Given the description of an element on the screen output the (x, y) to click on. 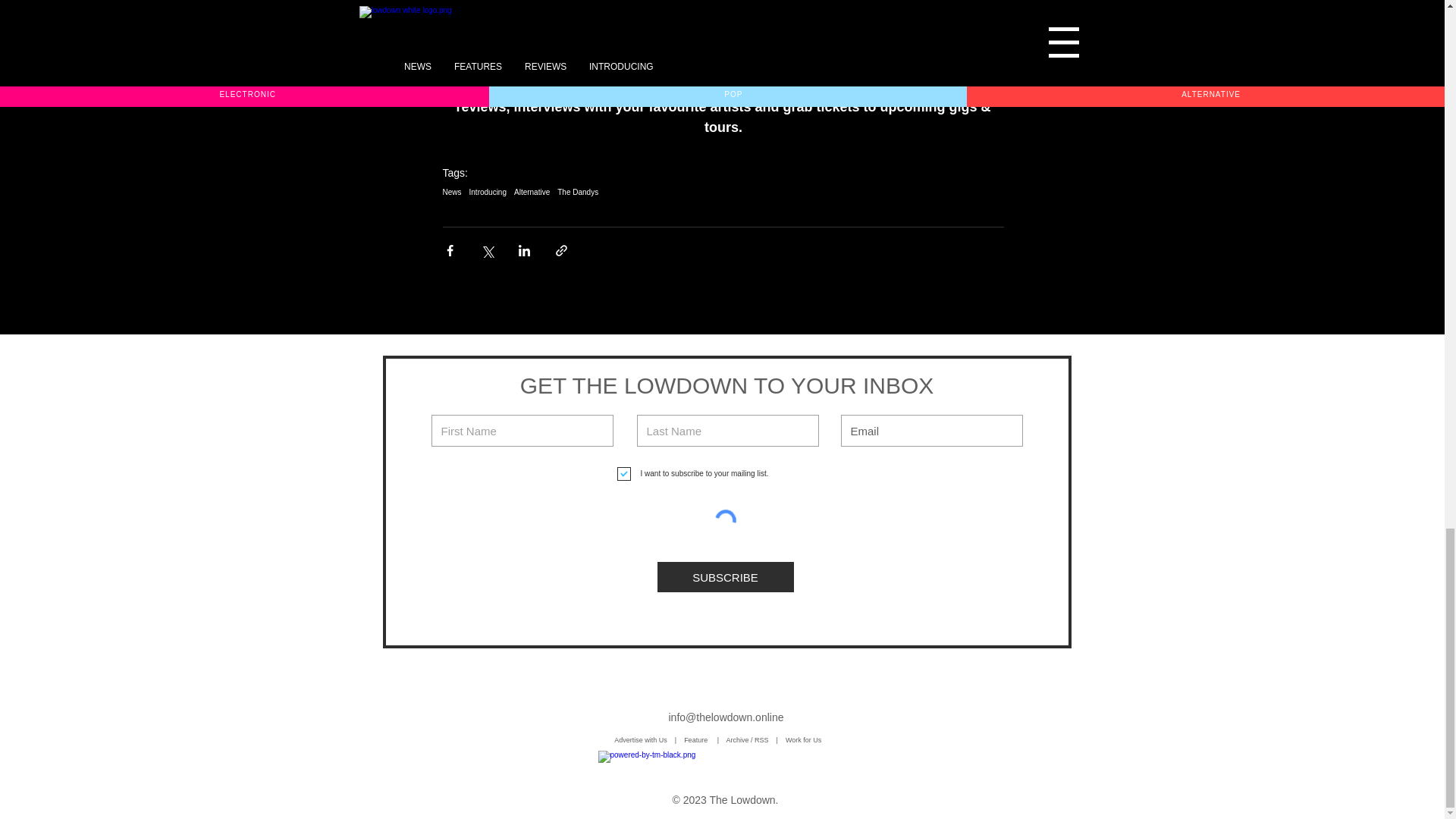
Introducing (487, 192)
HERE (745, 3)
Advertise with Us (640, 739)
Work for Us   (805, 739)
Feature      (700, 739)
SUBSCRIBE (724, 576)
News (451, 192)
Alternative (531, 192)
The Dandys (577, 192)
